Given the description of an element on the screen output the (x, y) to click on. 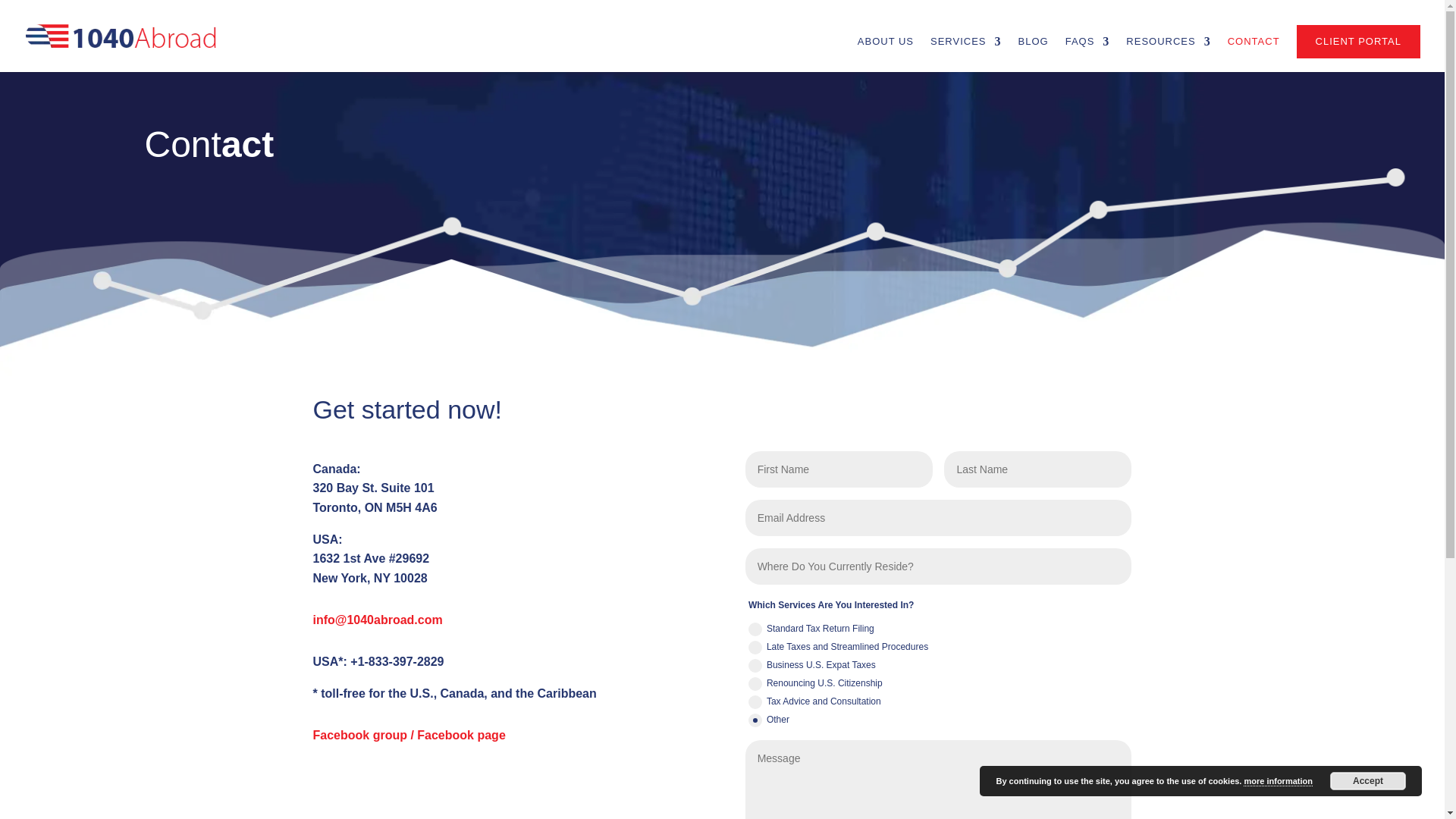
Accept Element type: text (1367, 780)
ABOUT US Element type: text (885, 54)
FAQS Element type: text (1087, 54)
BLOG Element type: text (1033, 54)
more information Element type: text (1277, 781)
Only letters allowed. Element type: hover (838, 469)
Only letters allowed. Element type: hover (1037, 469)
CLIENT PORTAL Element type: text (1358, 41)
SERVICES Element type: text (965, 54)
Facebook group /  Element type: text (364, 734)
info@1040abroad.com Element type: text (377, 619)
RESOURCES Element type: text (1168, 54)
Facebook page Element type: text (461, 734)
CONTACT Element type: text (1253, 54)
